Given the description of an element on the screen output the (x, y) to click on. 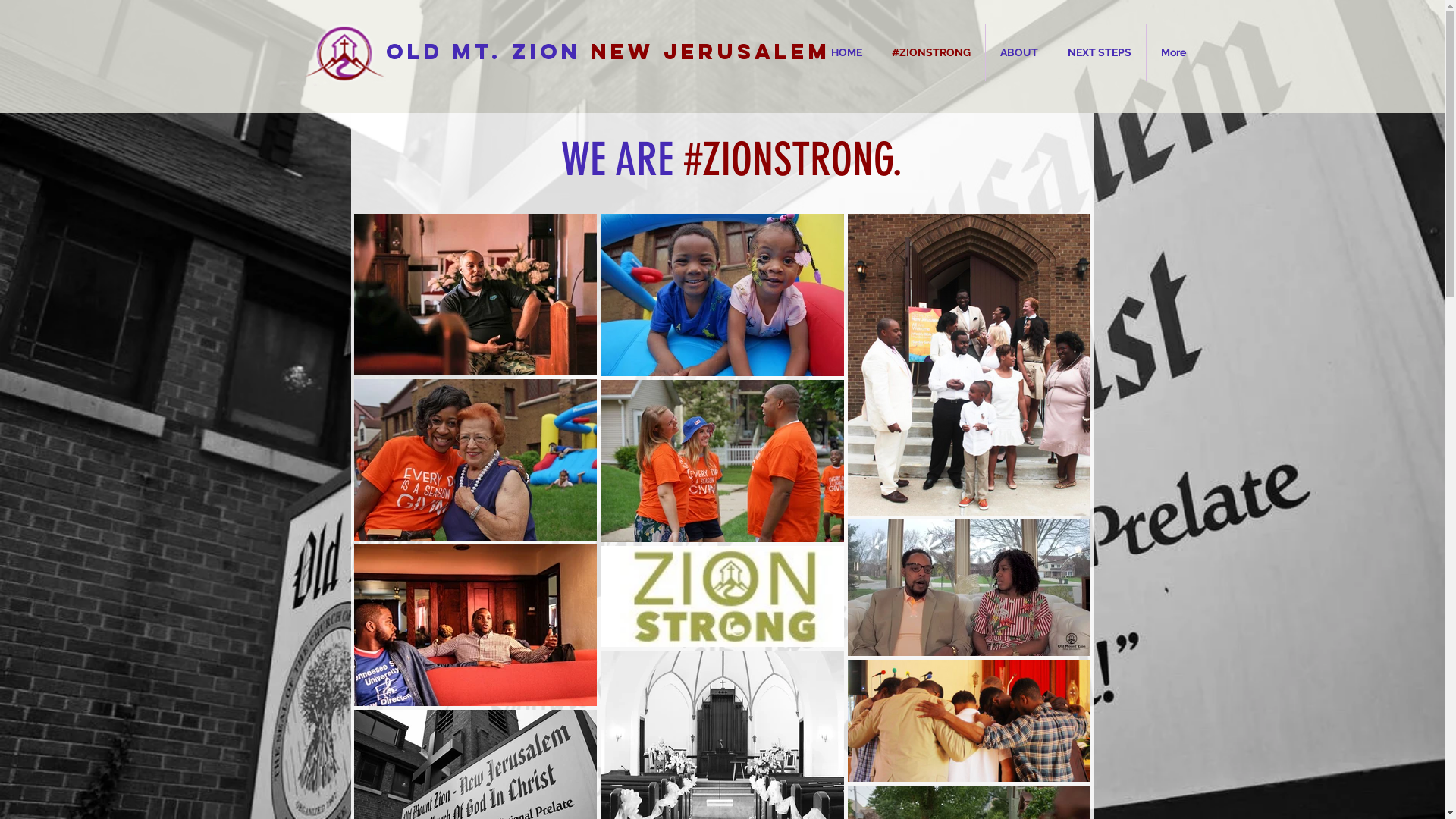
HOME Element type: text (845, 52)
ABOUT Element type: text (1018, 52)
#ZIONSTRONG Element type: text (930, 52)
